Given the description of an element on the screen output the (x, y) to click on. 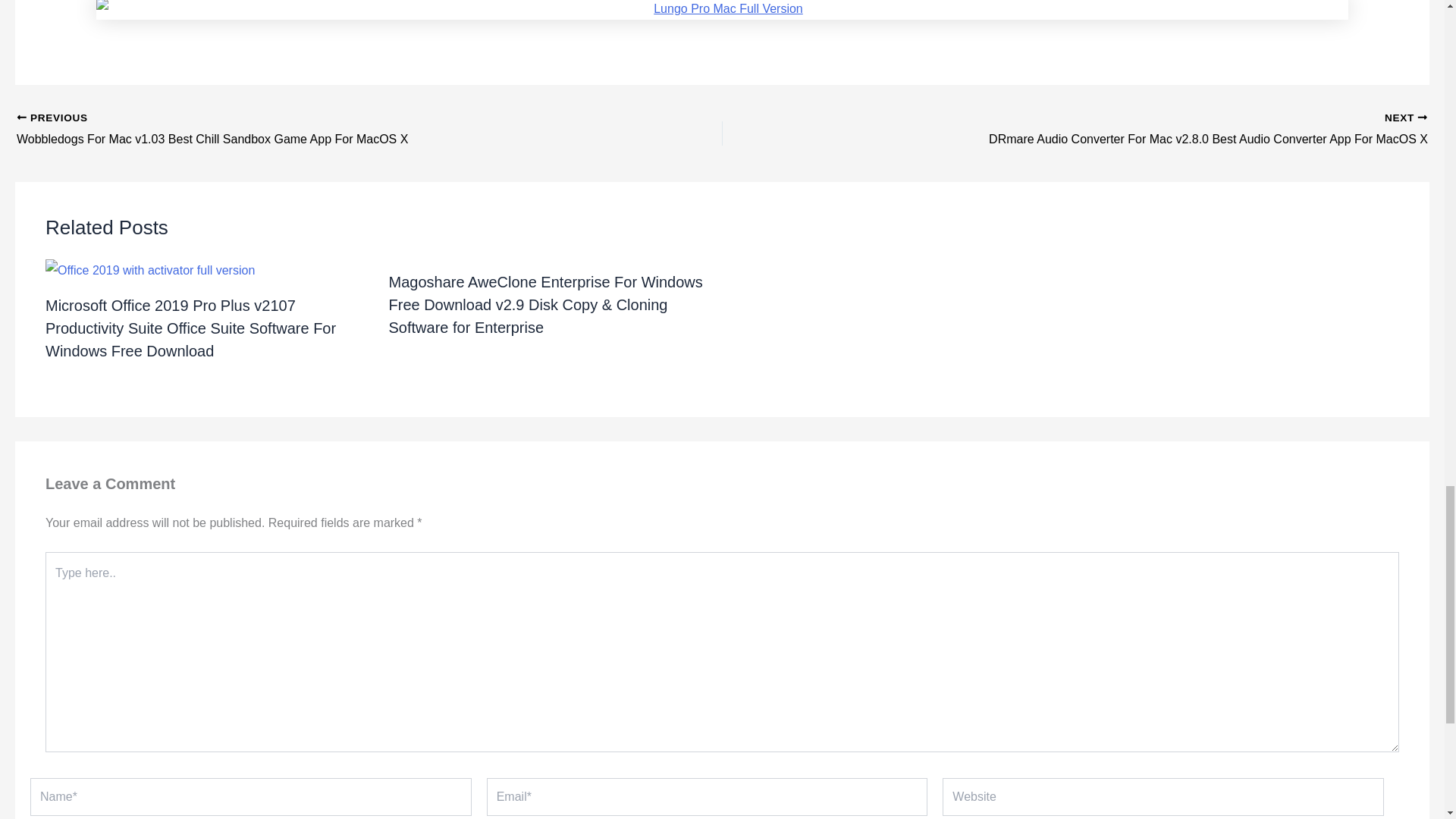
Lungo Pro For Mac Free Download-Link (722, 10)
